Given the description of an element on the screen output the (x, y) to click on. 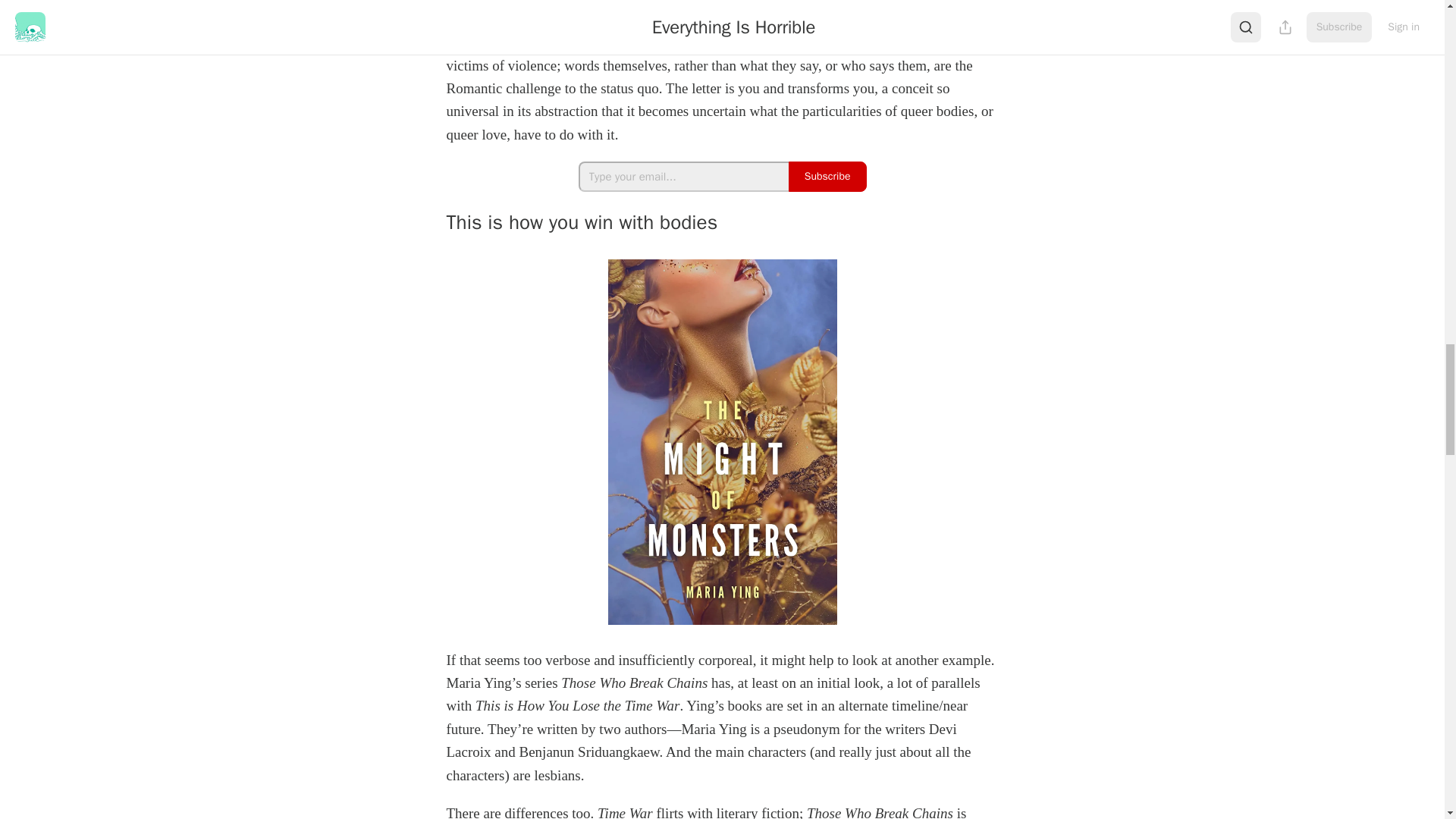
Subscribe (827, 176)
